Given the description of an element on the screen output the (x, y) to click on. 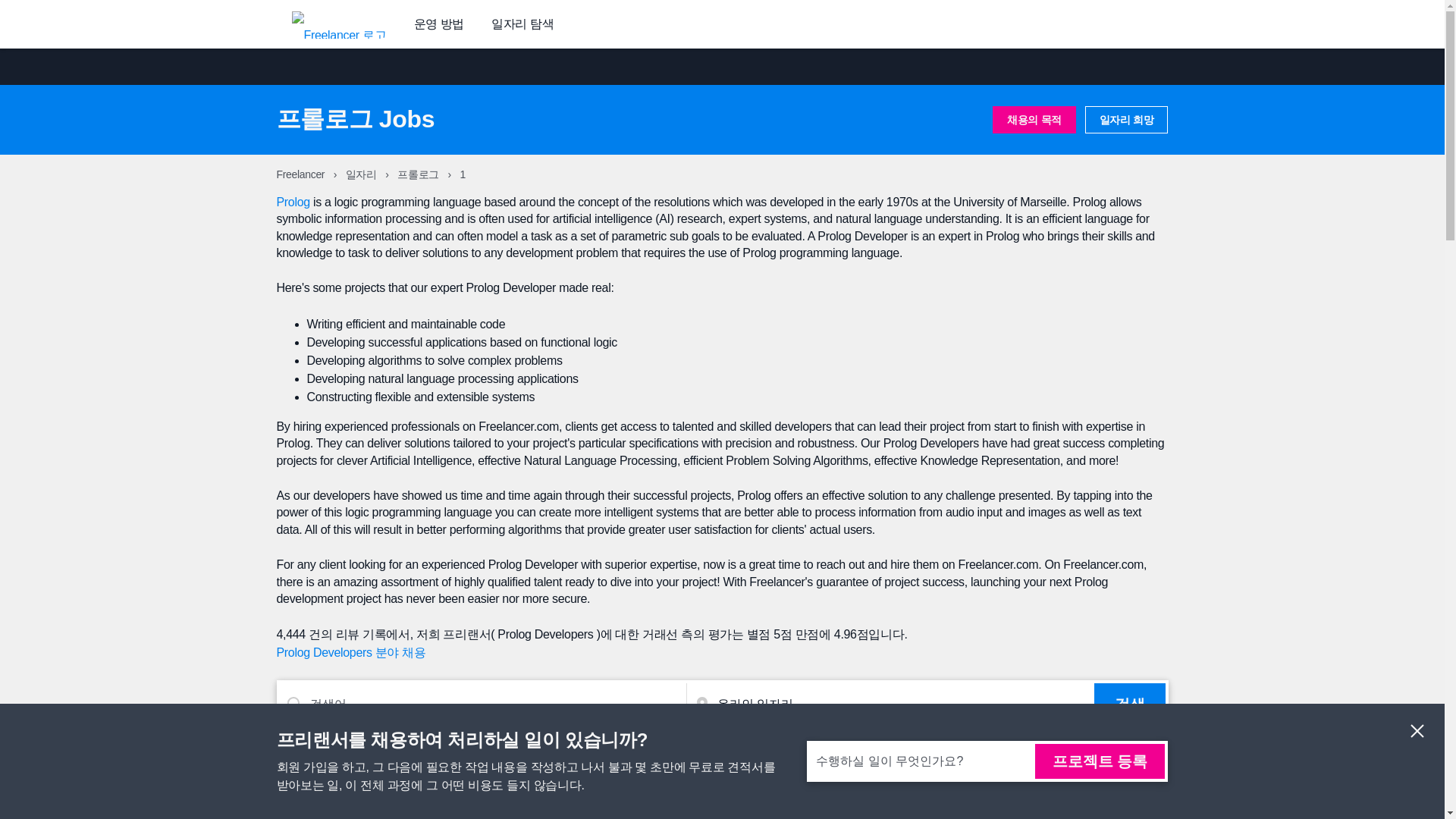
First (1039, 778)
0 (1082, 778)
Last (1125, 778)
Prolog (292, 201)
Freelancer (301, 174)
